Given the description of an element on the screen output the (x, y) to click on. 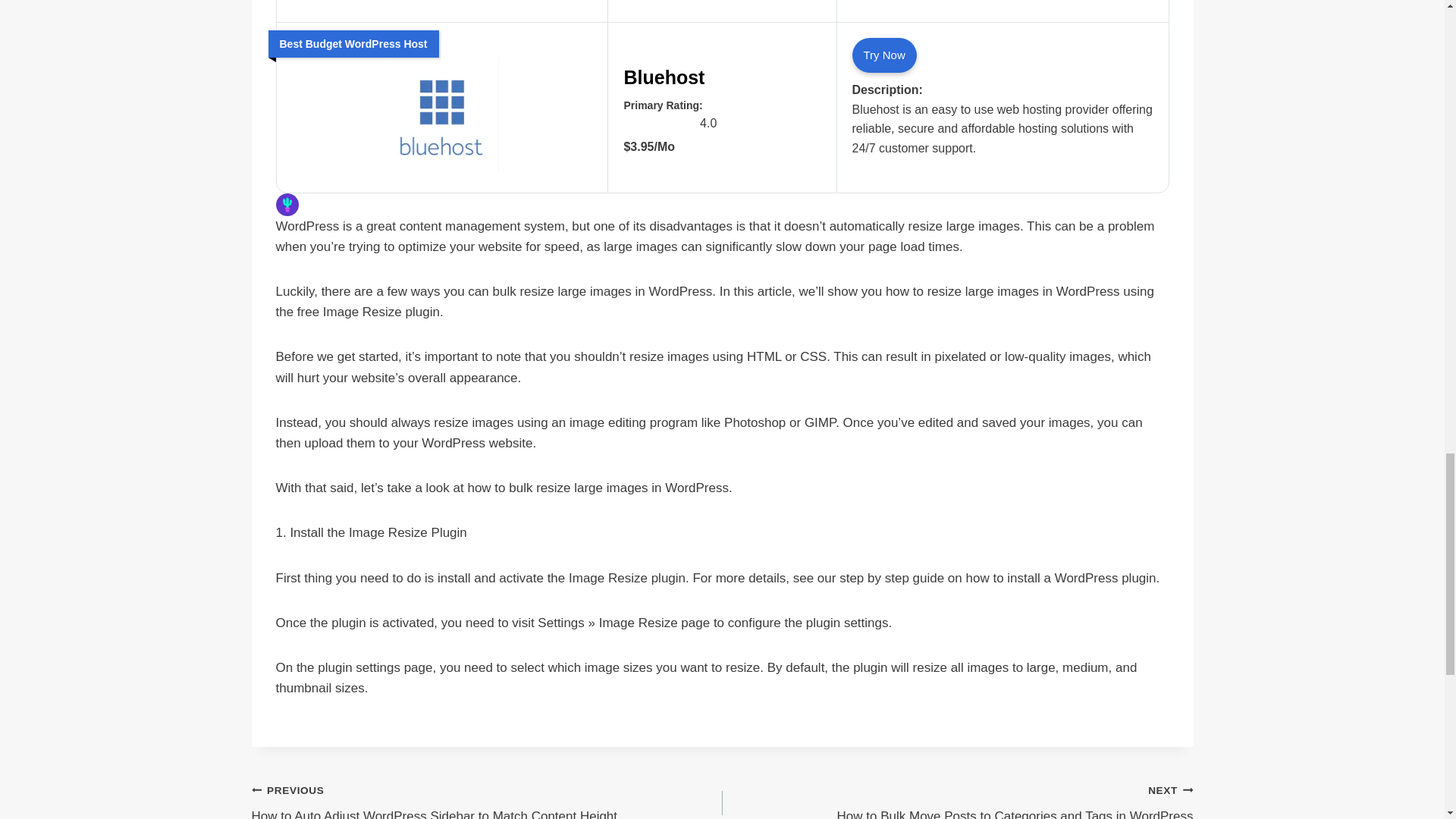
Bluehost (722, 73)
Try Now (884, 54)
